Given the description of an element on the screen output the (x, y) to click on. 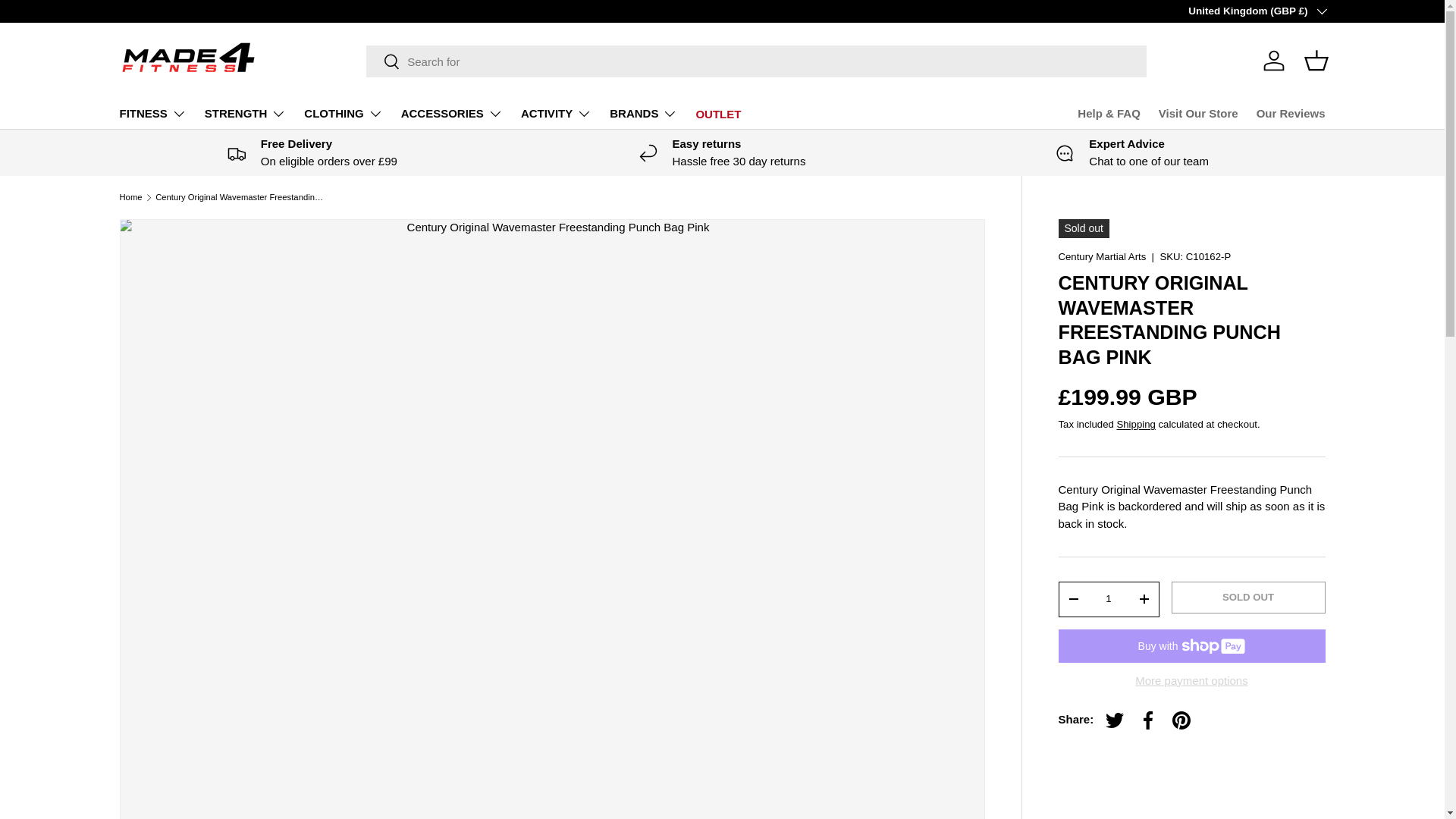
SKIP TO CONTENT (68, 21)
1 (1108, 598)
STRENGTH (245, 113)
Basket (1316, 60)
Search (383, 62)
FITNESS (152, 113)
Log in (1273, 60)
